Given the description of an element on the screen output the (x, y) to click on. 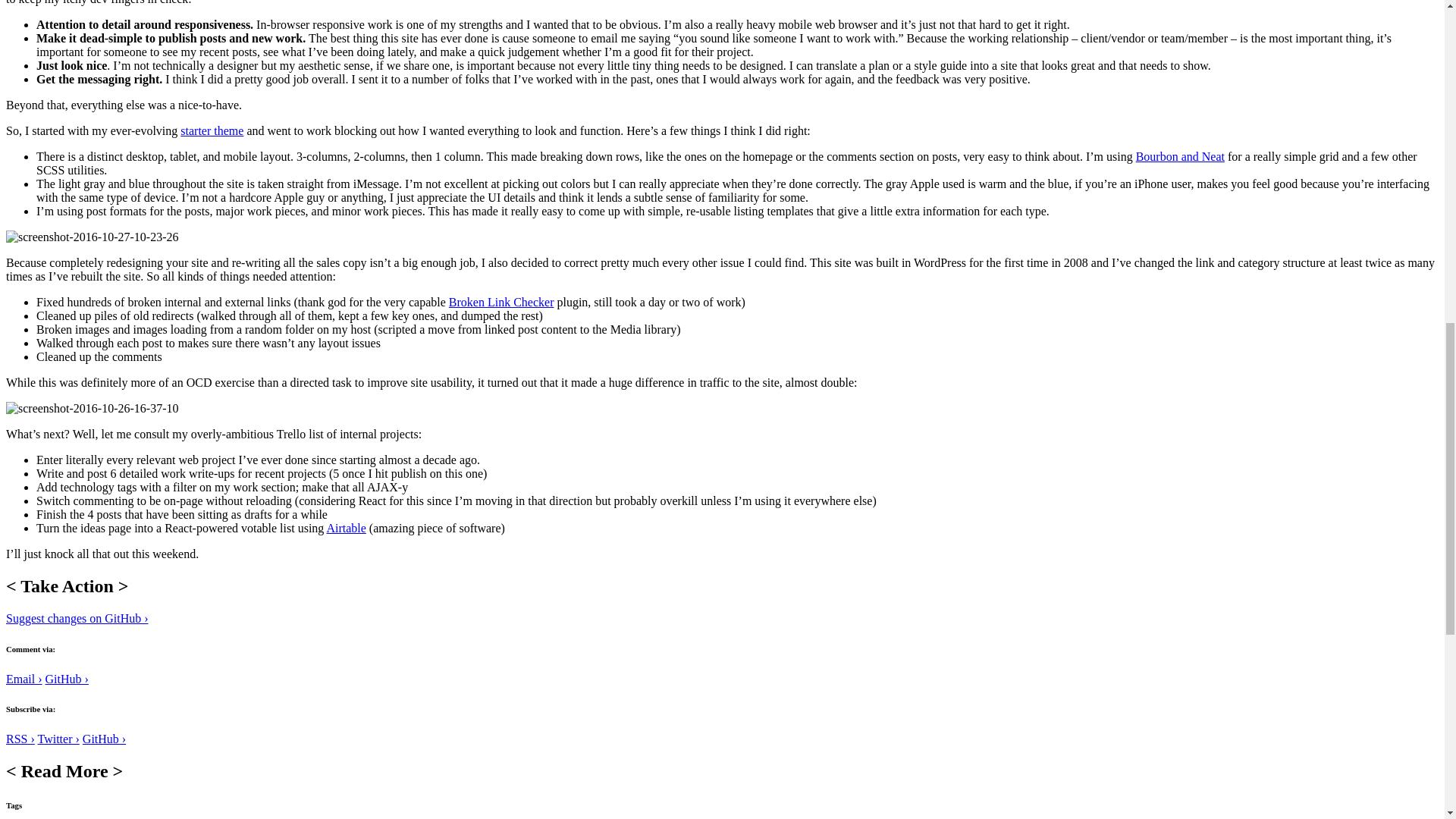
starter theme (211, 130)
Broken Link Checker (501, 301)
Airtable (345, 527)
Bourbon and Neat (1179, 155)
